Given the description of an element on the screen output the (x, y) to click on. 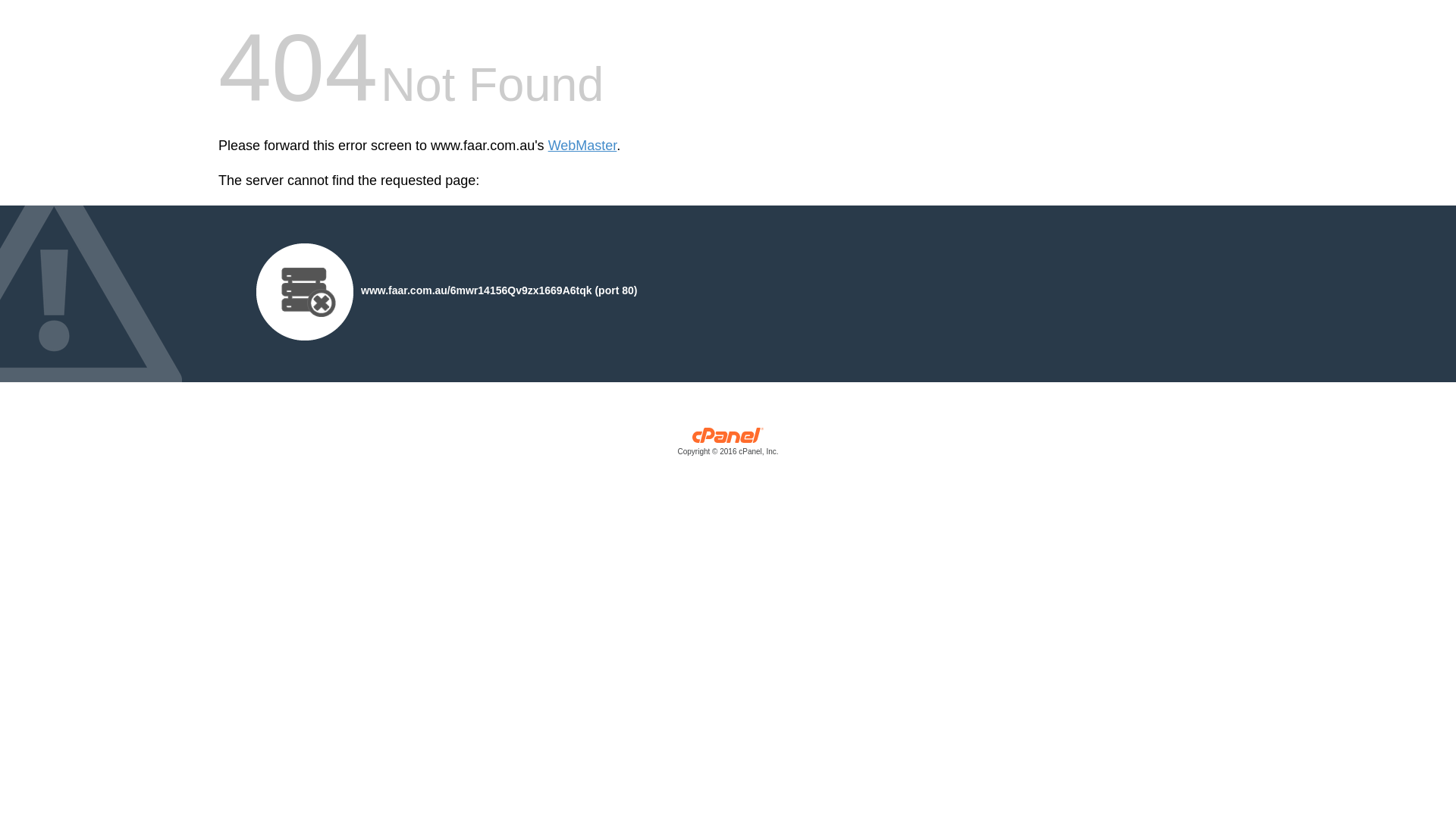
WebMaster Element type: text (582, 145)
